Given the description of an element on the screen output the (x, y) to click on. 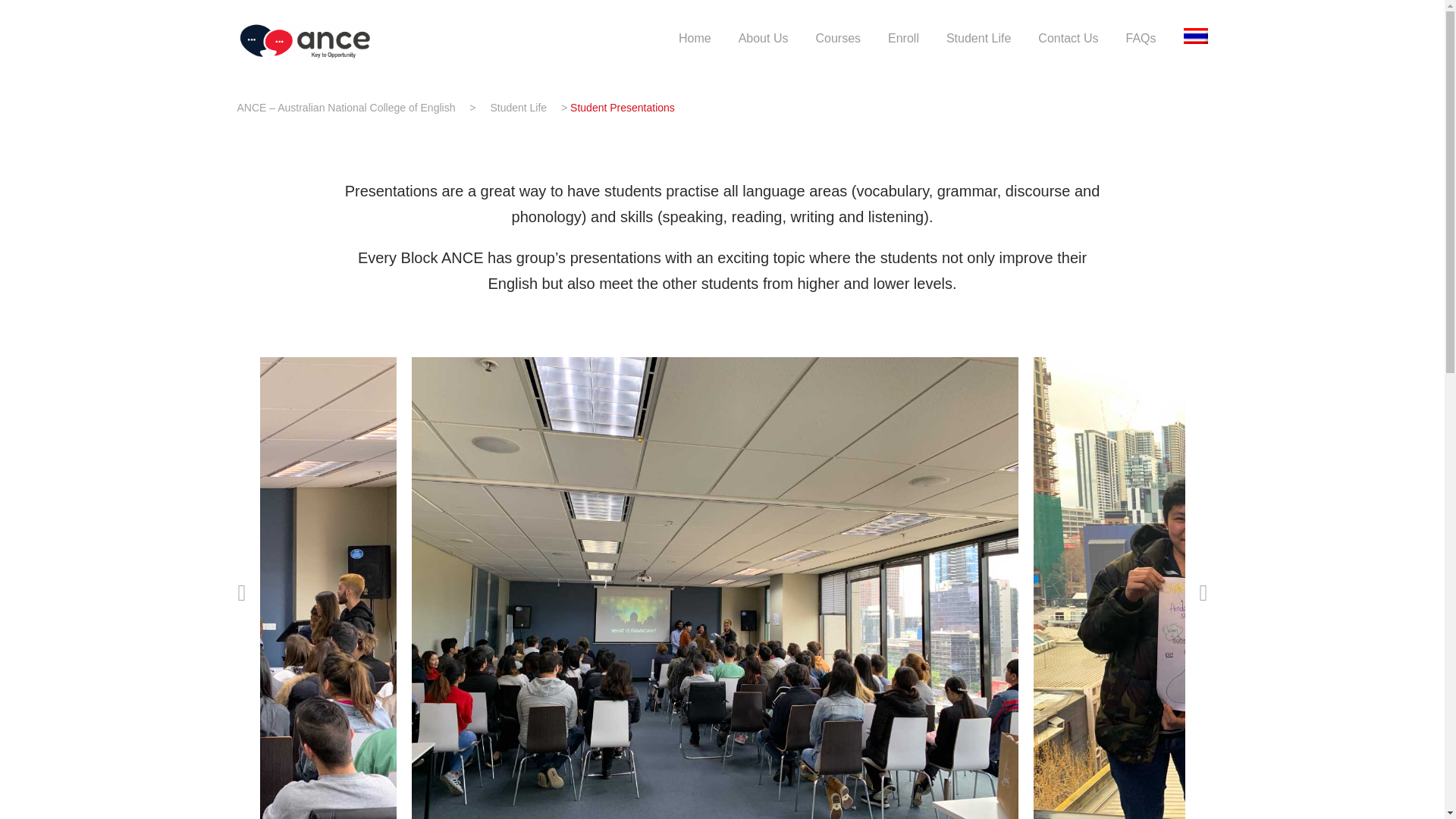
Go to Student Life. (518, 107)
